Given the description of an element on the screen output the (x, y) to click on. 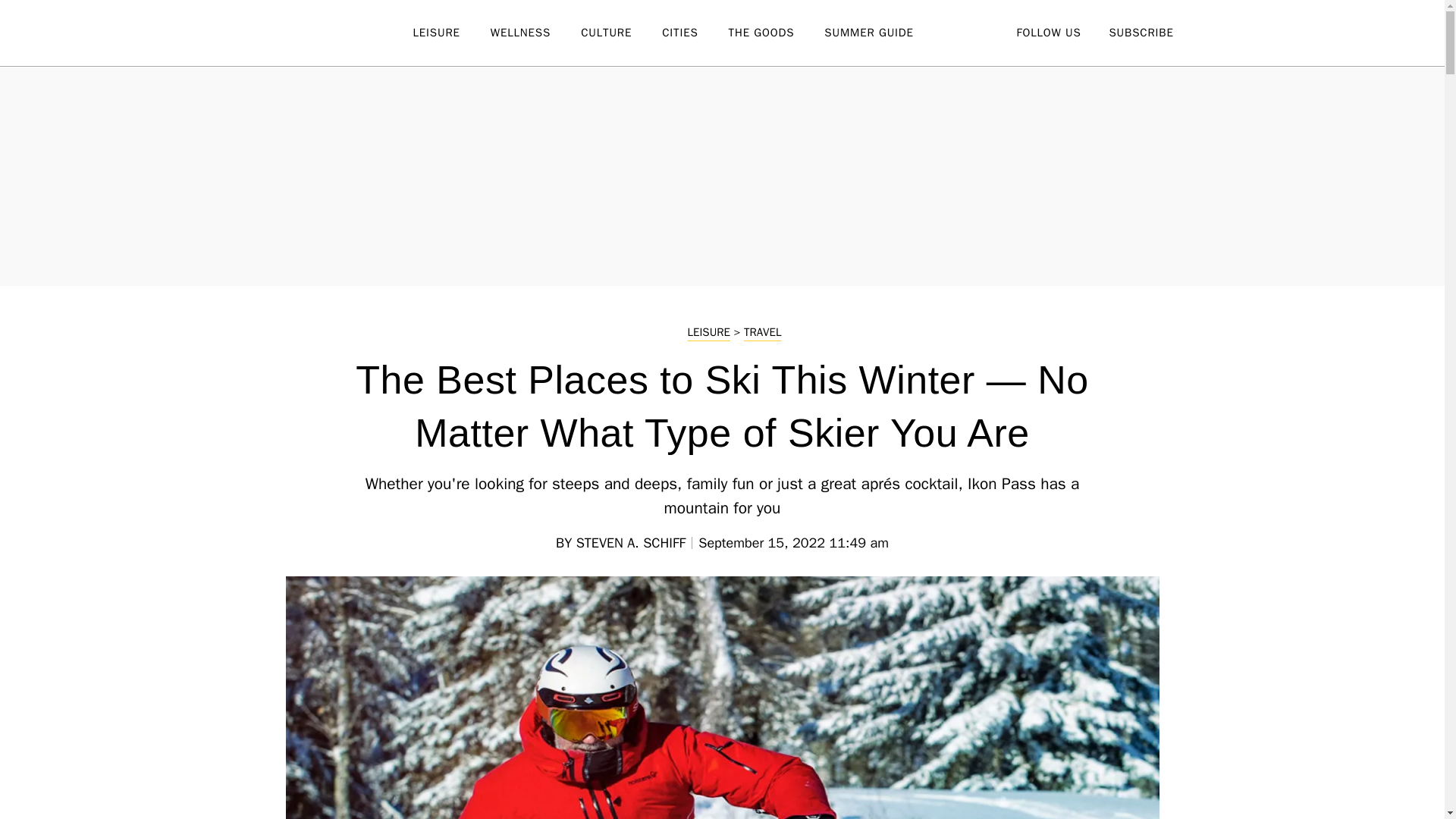
WELLNESS (535, 32)
CITIES (695, 32)
SUBSCRIBE (1140, 32)
LEISURE (450, 32)
CULTURE (621, 32)
FOLLOW US (1048, 32)
THE GOODS (777, 32)
SUMMER GUIDE (883, 32)
